Given the description of an element on the screen output the (x, y) to click on. 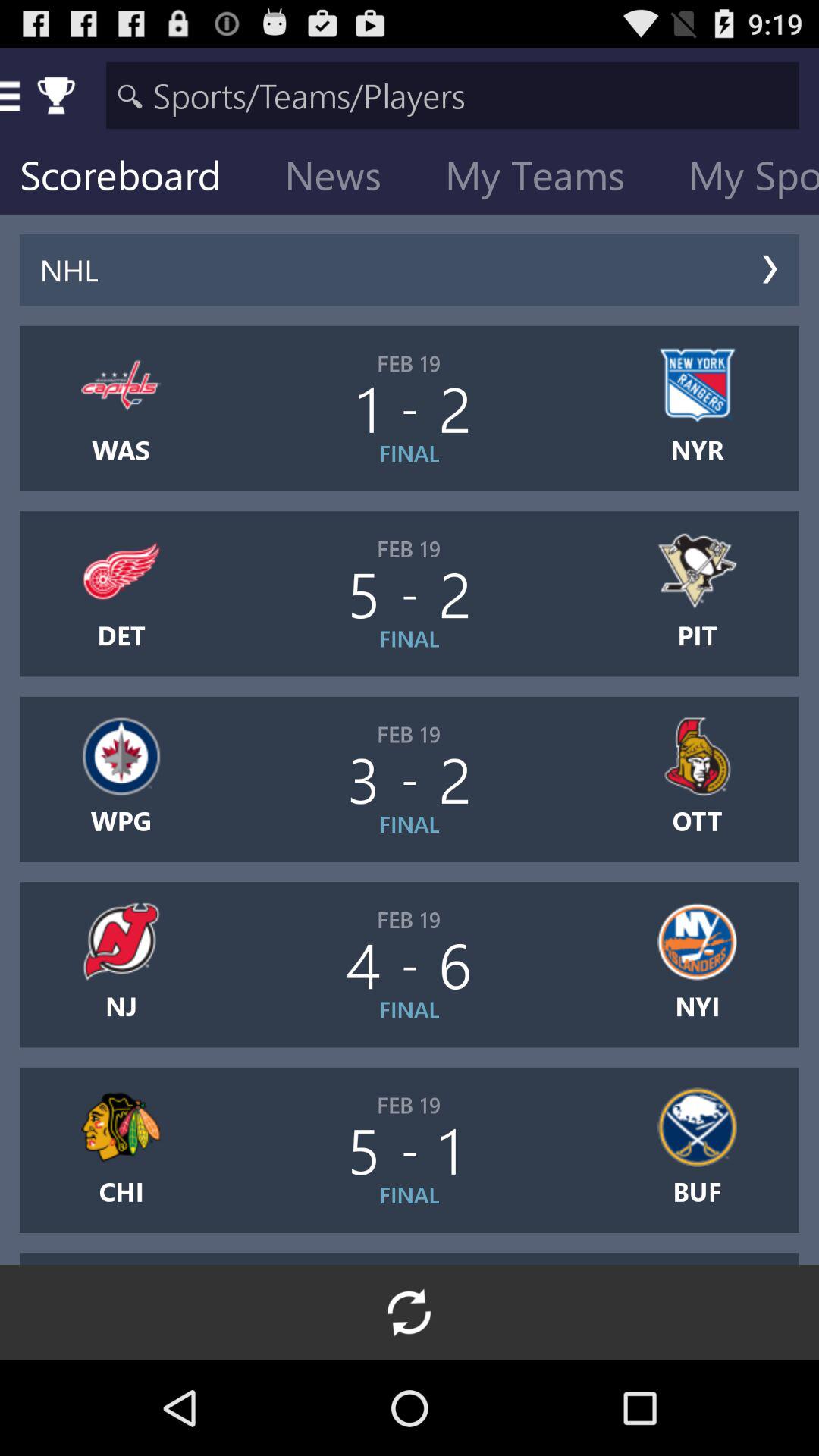
turn on item to the right of the news item (546, 178)
